Given the description of an element on the screen output the (x, y) to click on. 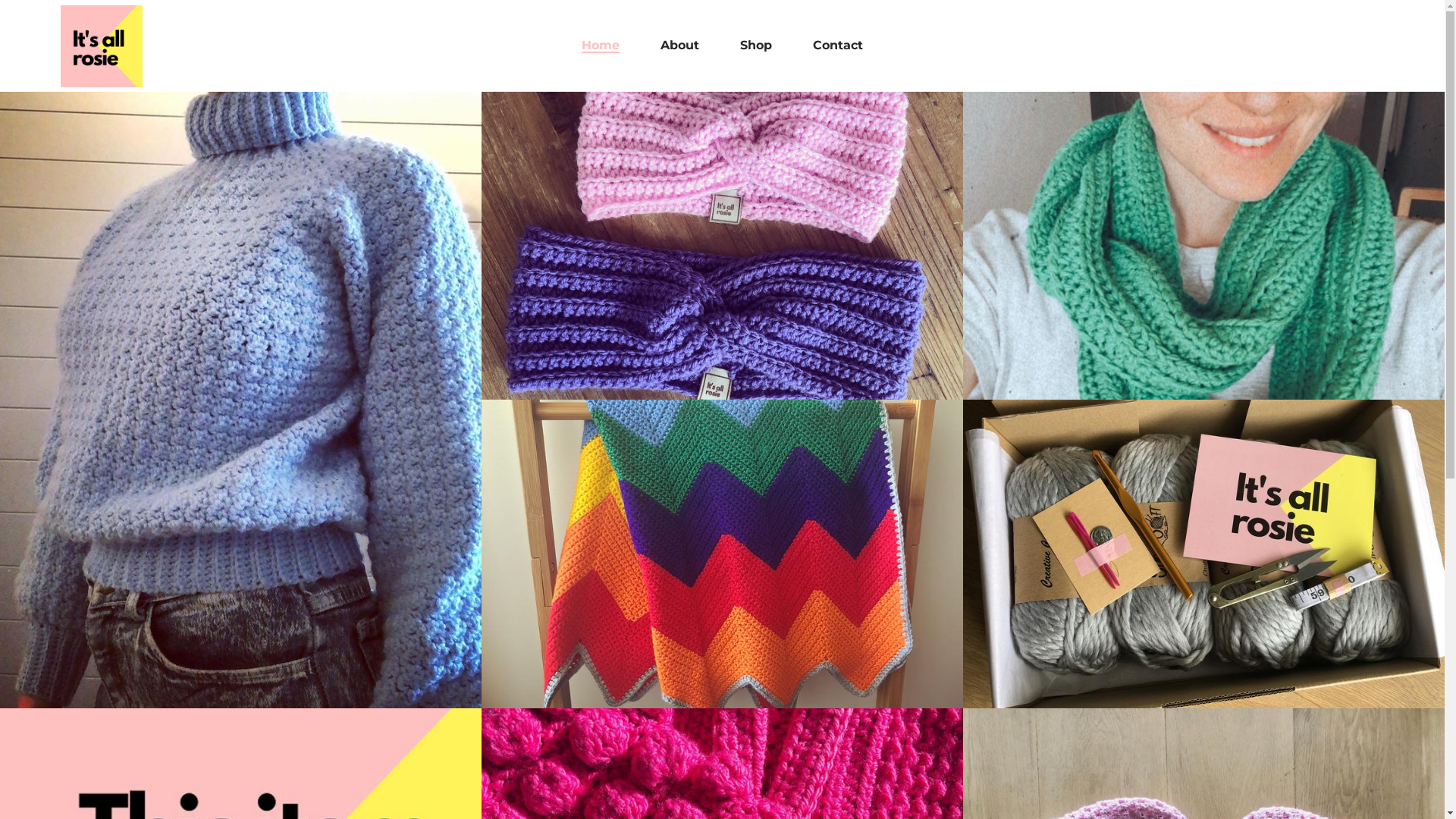
About Element type: text (679, 45)
Contact Element type: text (837, 45)
Home Element type: text (600, 45)
Shop Element type: text (755, 45)
It's all rosie Element type: text (101, 45)
